Given the description of an element on the screen output the (x, y) to click on. 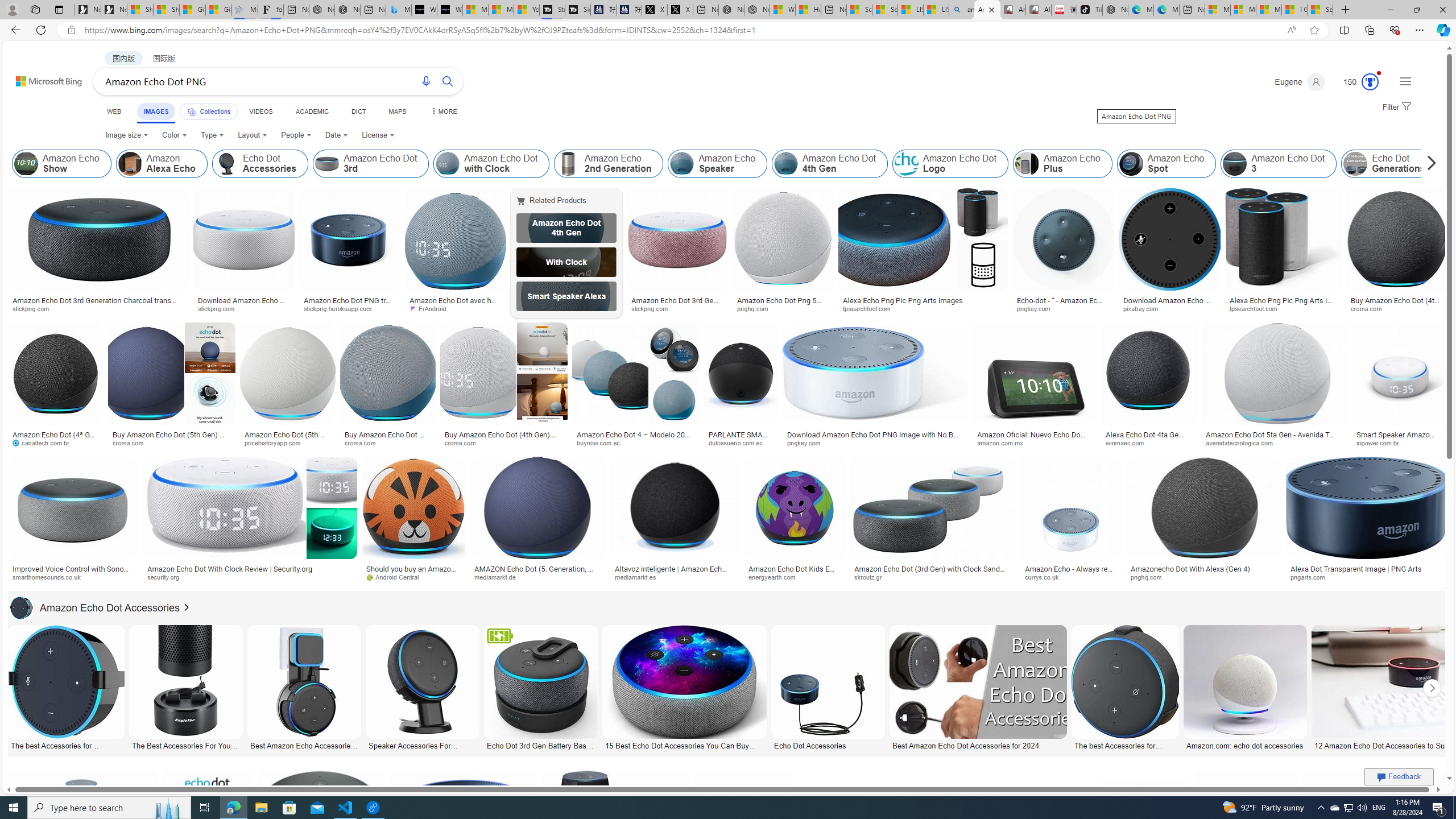
dulcesueno.com.ec (739, 442)
Alexa Echo Png Pic Png Arts Images (1282, 303)
mediamarkt.es (638, 576)
tpsearchtool.com (1283, 308)
Color (173, 135)
currys.co.uk (1070, 576)
